Given the description of an element on the screen output the (x, y) to click on. 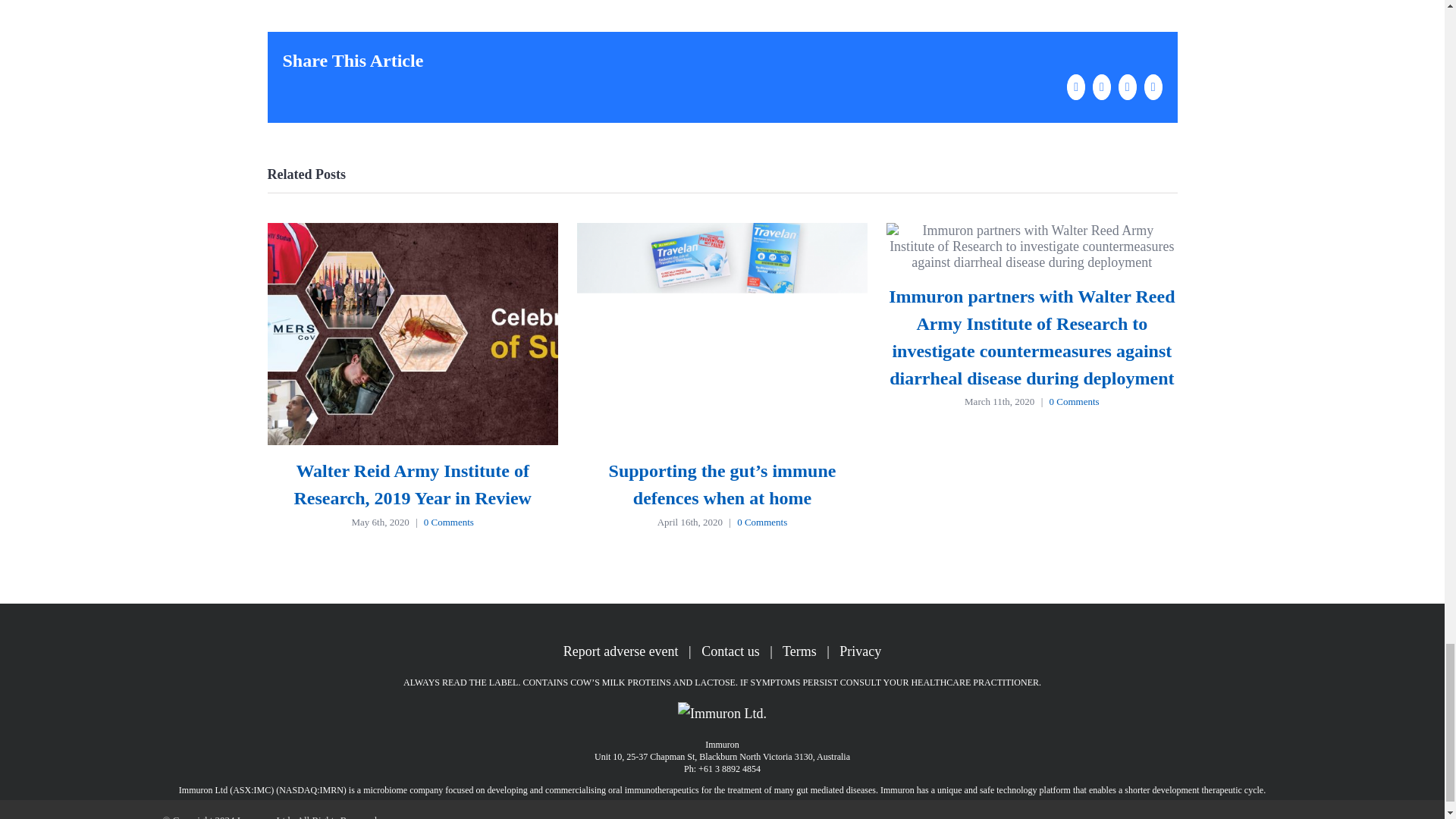
Walter Reid Army Institute of Research, 2019 Year in Review (412, 484)
Contact us (730, 651)
0 Comments (448, 521)
Walter Reid Army Institute of Research, 2019 Year in Review (412, 484)
Terms (799, 651)
0 Comments (1073, 401)
0 Comments (761, 521)
